Given the description of an element on the screen output the (x, y) to click on. 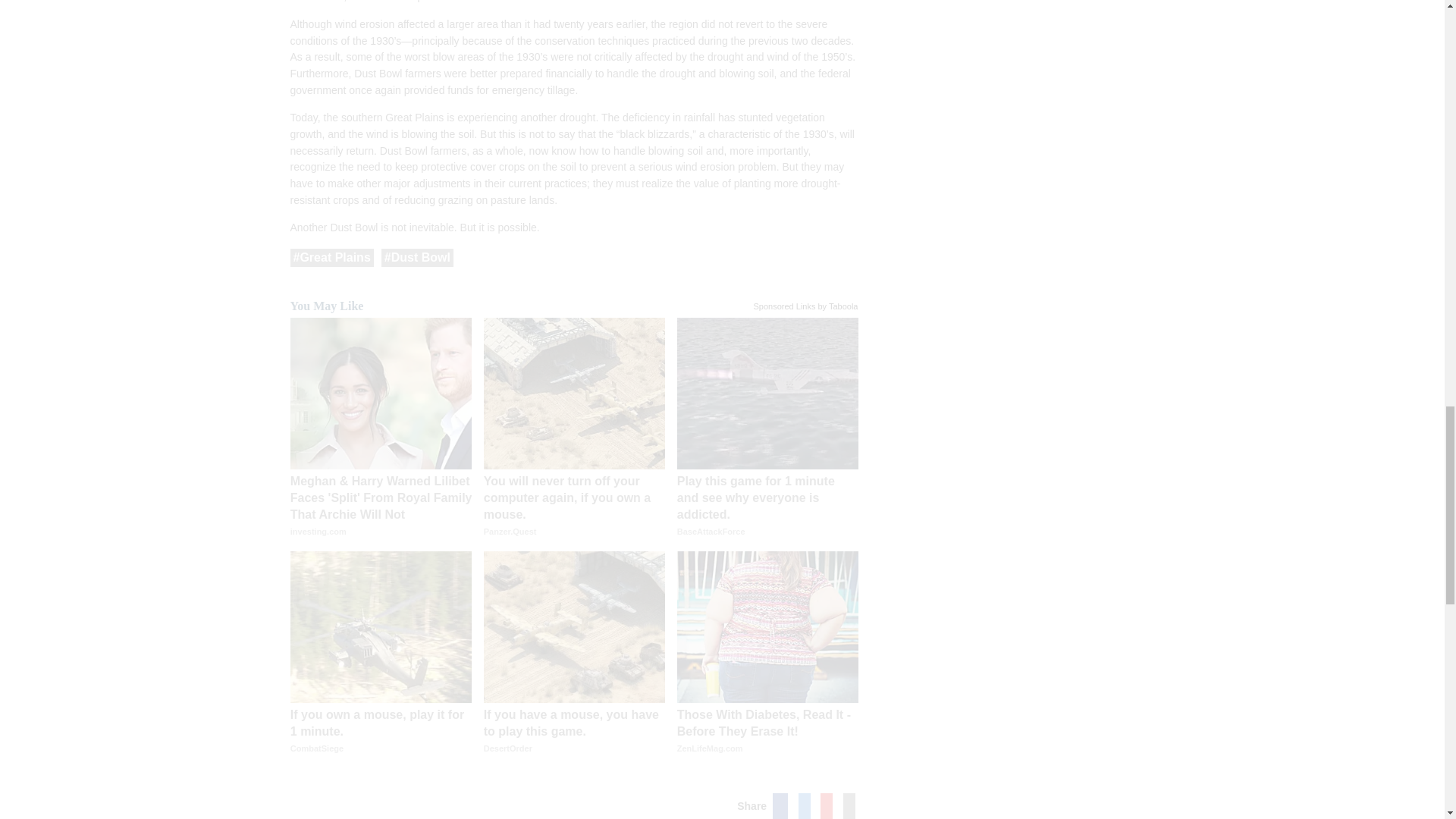
If you own a mouse, play it for 1 minute. (380, 626)
If you own a mouse, play it for 1 minute. (380, 739)
